Given the description of an element on the screen output the (x, y) to click on. 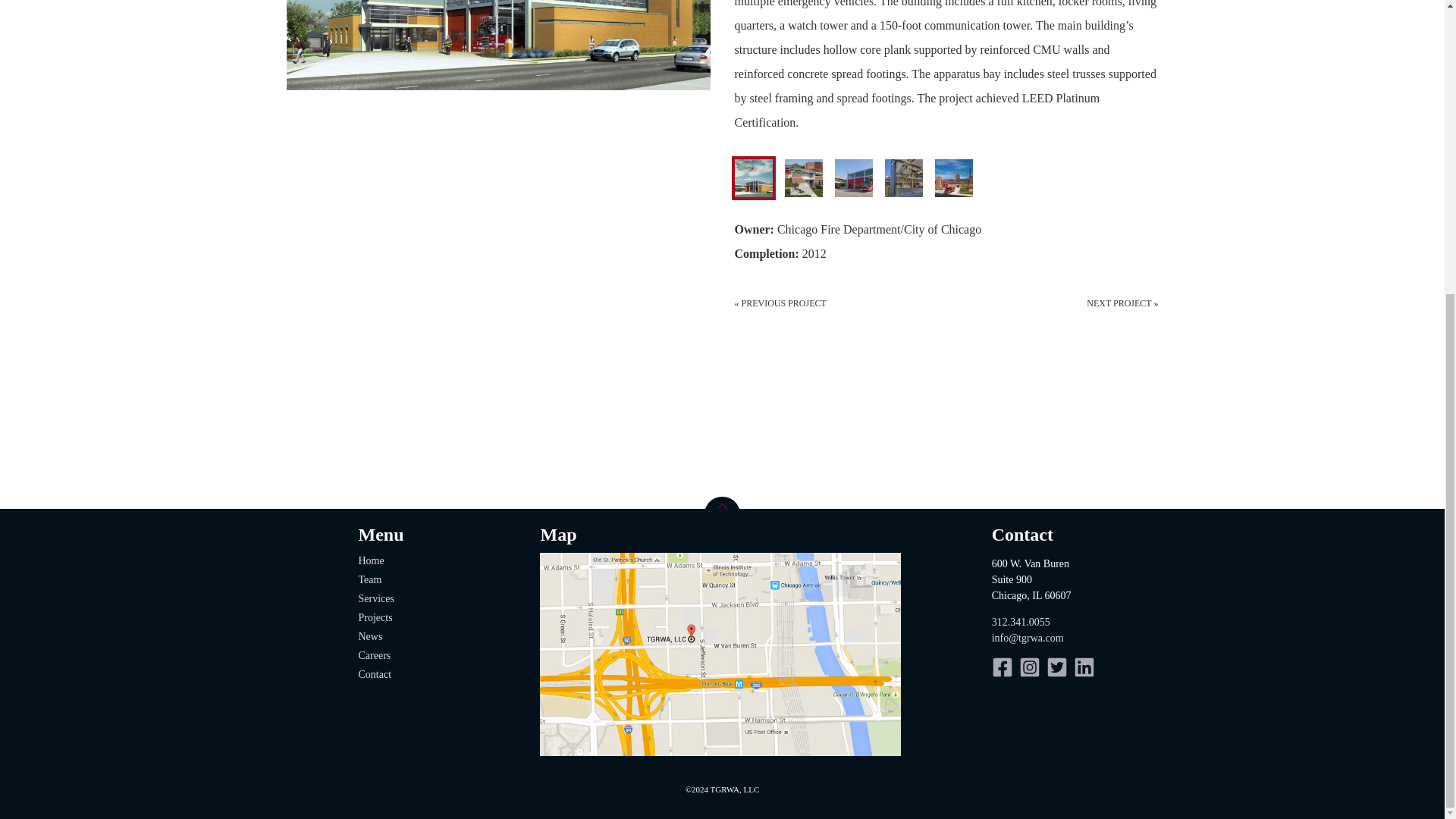
News (369, 636)
Scroll to top (721, 508)
Services (375, 598)
Projects (374, 617)
312.341.0055 (1020, 622)
Careers (374, 655)
Contact (374, 674)
Home (371, 560)
Team (369, 579)
